Given the description of an element on the screen output the (x, y) to click on. 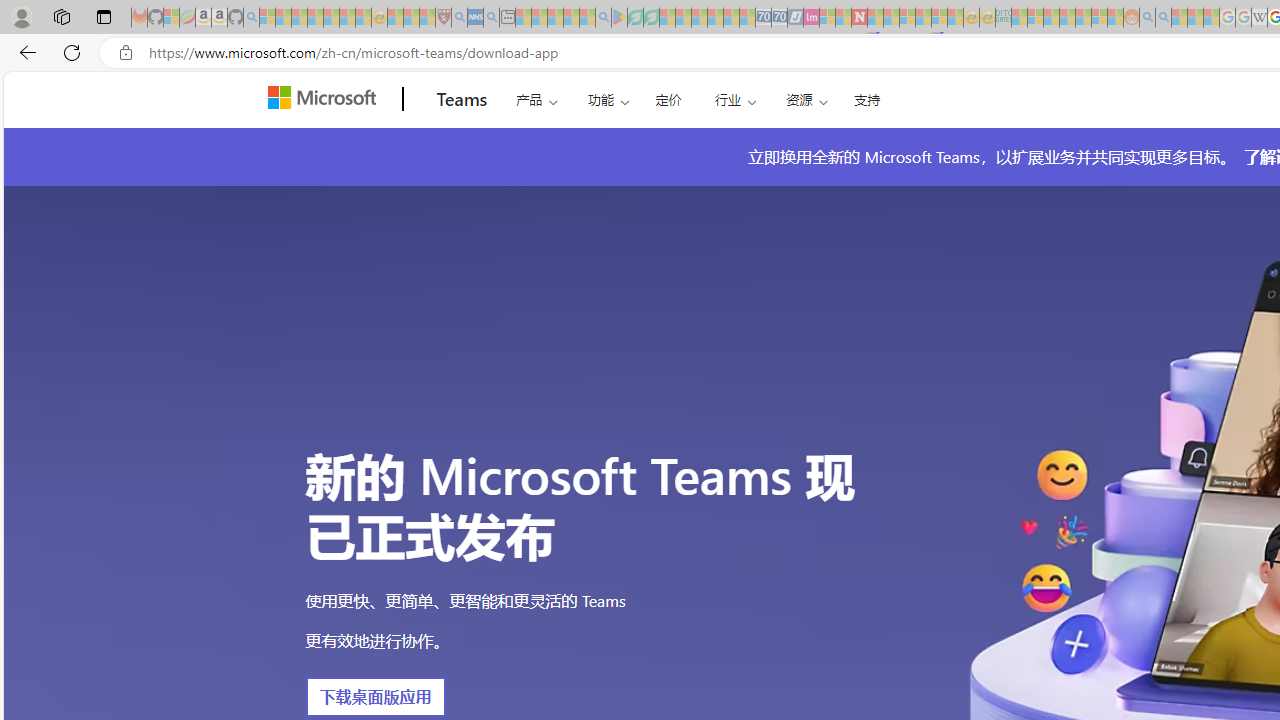
DITOGAMES AG Imprint - Sleeping (1003, 17)
The Weather Channel - MSN - Sleeping (299, 17)
Bluey: Let's Play! - Apps on Google Play - Sleeping (619, 17)
Target page - Wikipedia - Sleeping (1259, 17)
MSNBC - MSN - Sleeping (1019, 17)
